Given the description of an element on the screen output the (x, y) to click on. 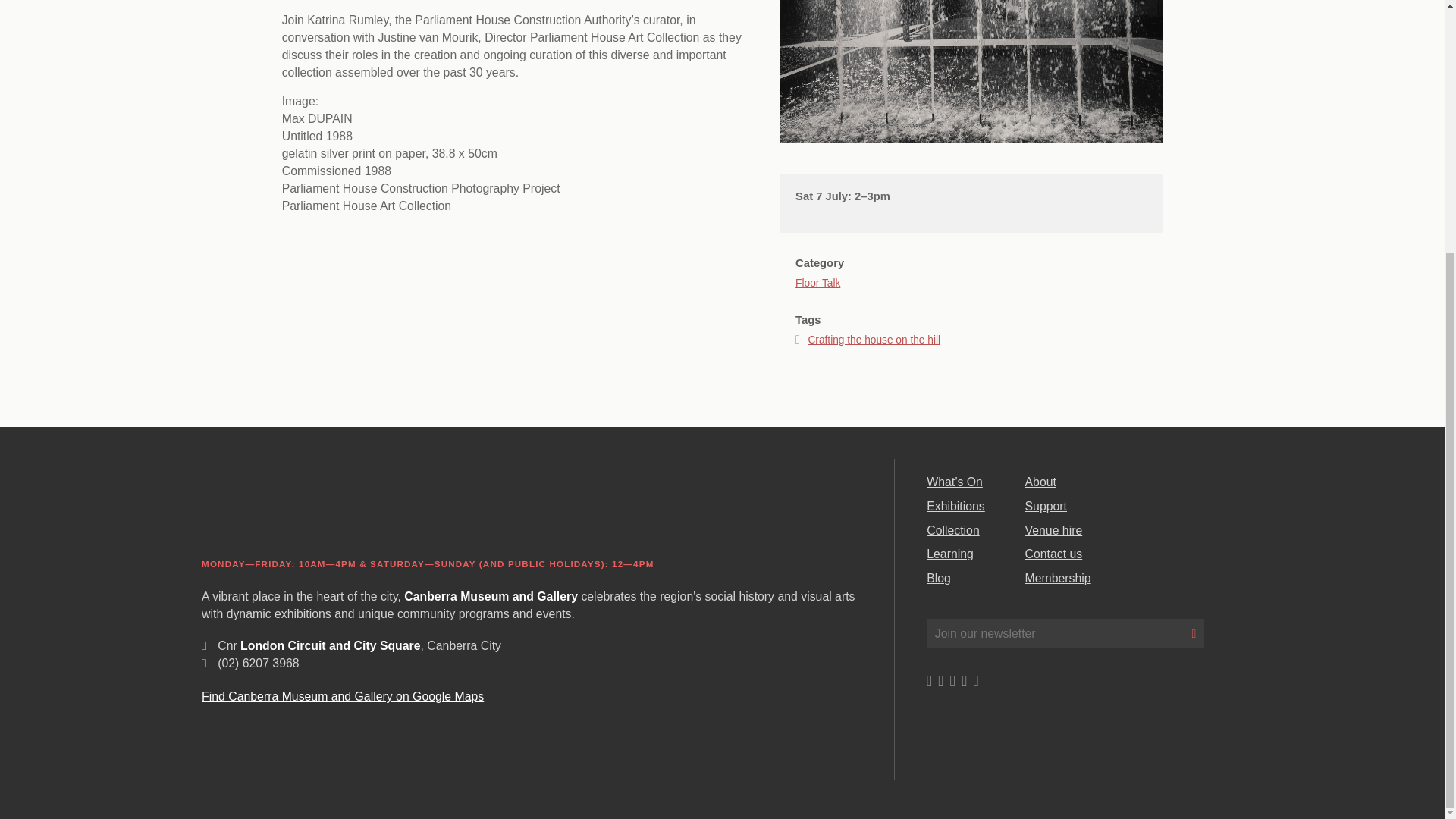
Support (1046, 505)
Learning (950, 553)
Floor Talk (817, 271)
Collection (952, 530)
Membership (1057, 577)
Exhibitions (955, 505)
Crafting the house on the hill (874, 339)
About (1041, 481)
Venue hire (1054, 530)
Canberra Museum and Gallery (317, 504)
